Given the description of an element on the screen output the (x, y) to click on. 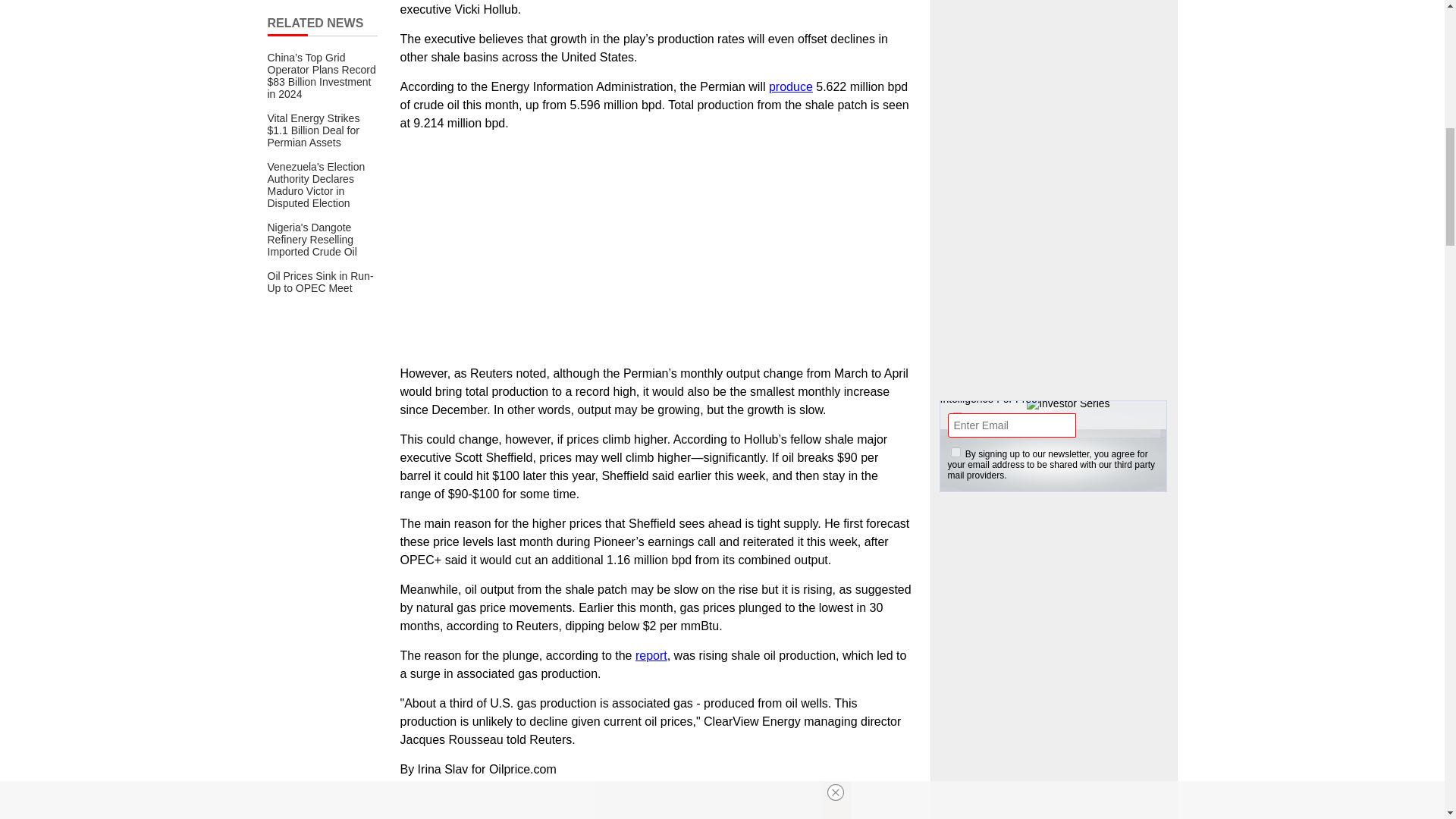
3rd party ad content (655, 810)
3rd party ad content (1053, 264)
3rd party ad content (1053, 766)
3rd party ad content (1053, 74)
1 (955, 452)
